Given the description of an element on the screen output the (x, y) to click on. 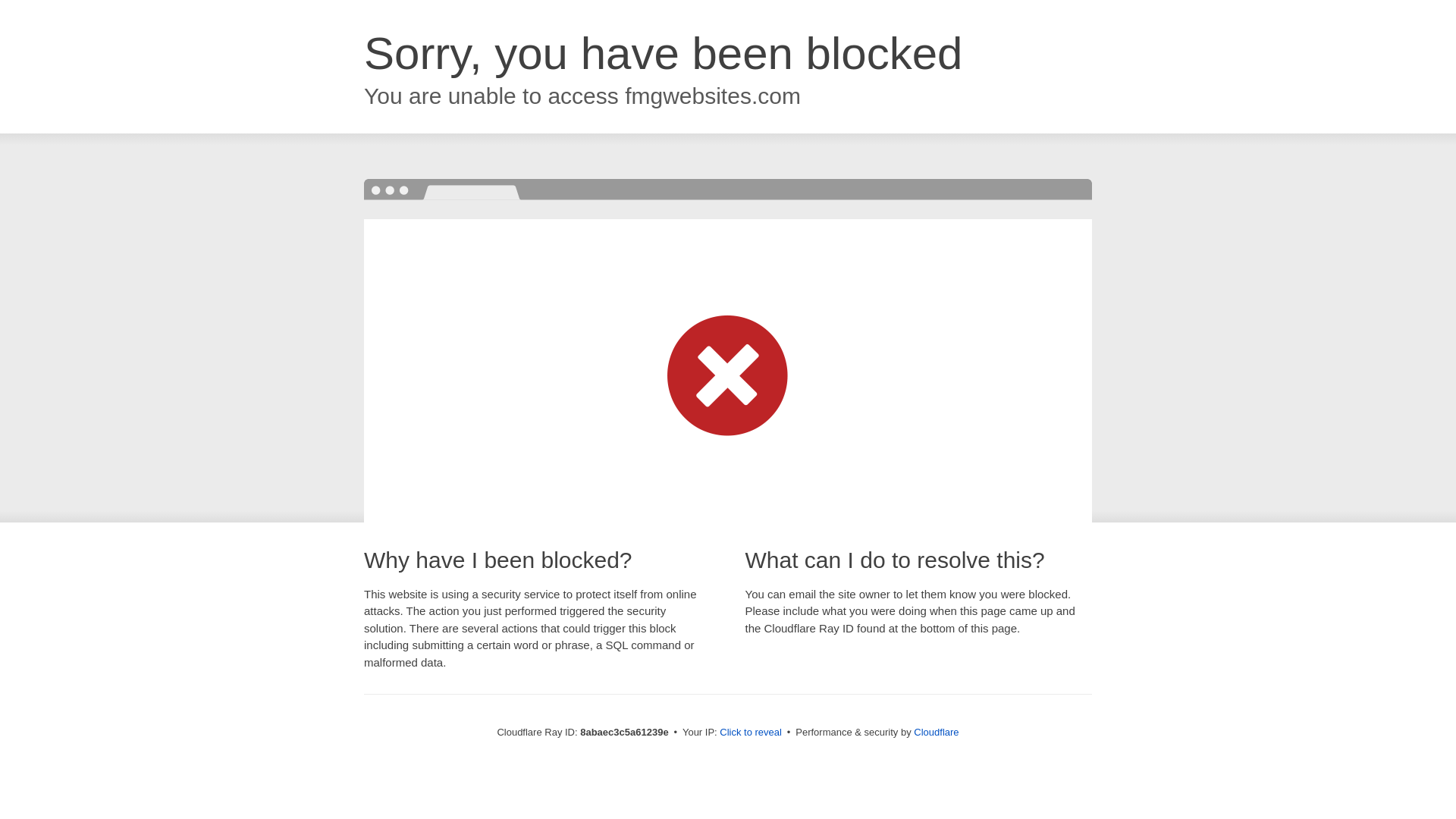
Cloudflare (936, 731)
Click to reveal (750, 732)
